Given the description of an element on the screen output the (x, y) to click on. 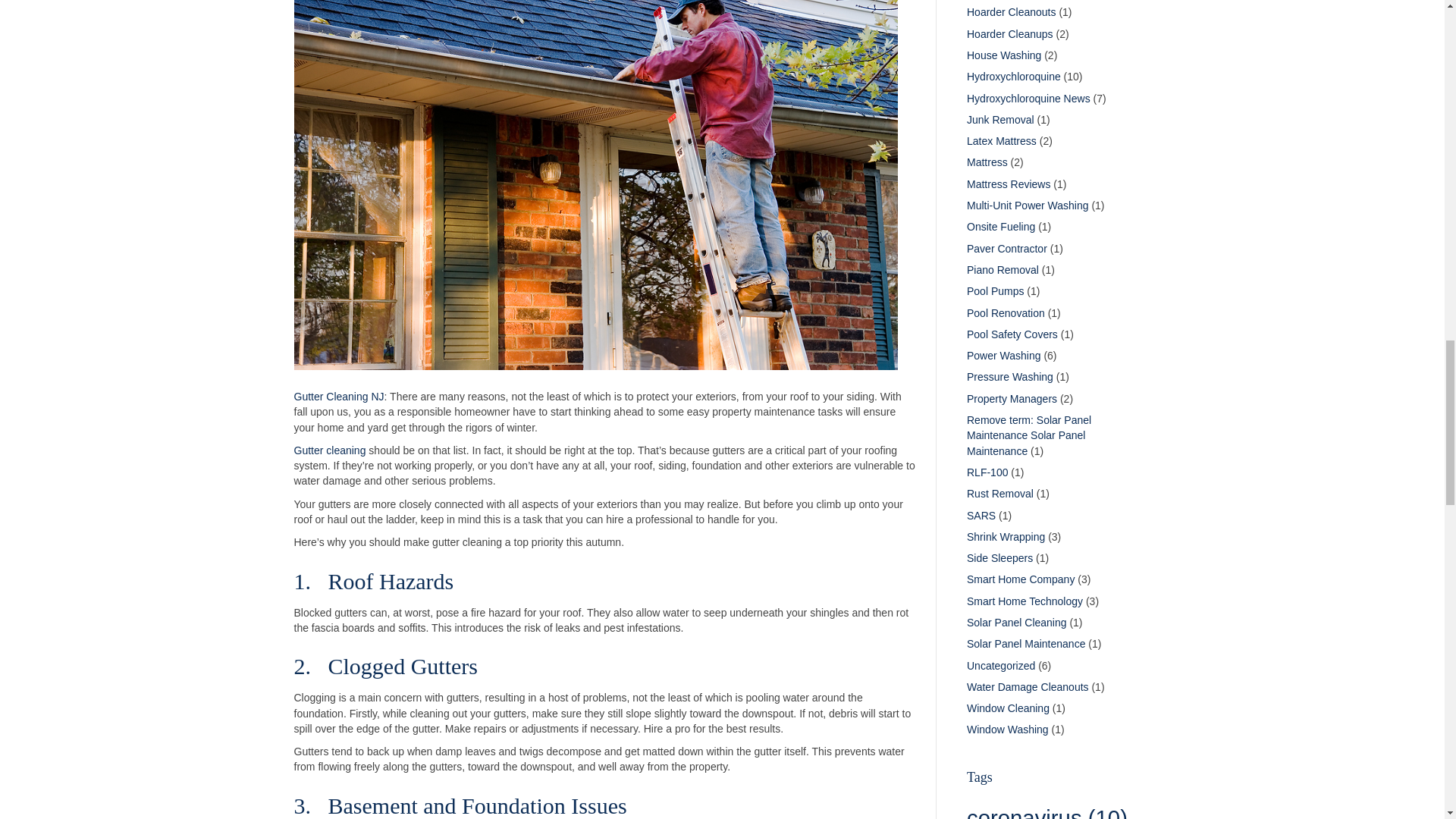
Gutter Cleaning NJ (339, 396)
Why Should Gutter Cleaning Be On Your Fall To-Do List? (596, 167)
Gutter cleaning (330, 450)
